Given the description of an element on the screen output the (x, y) to click on. 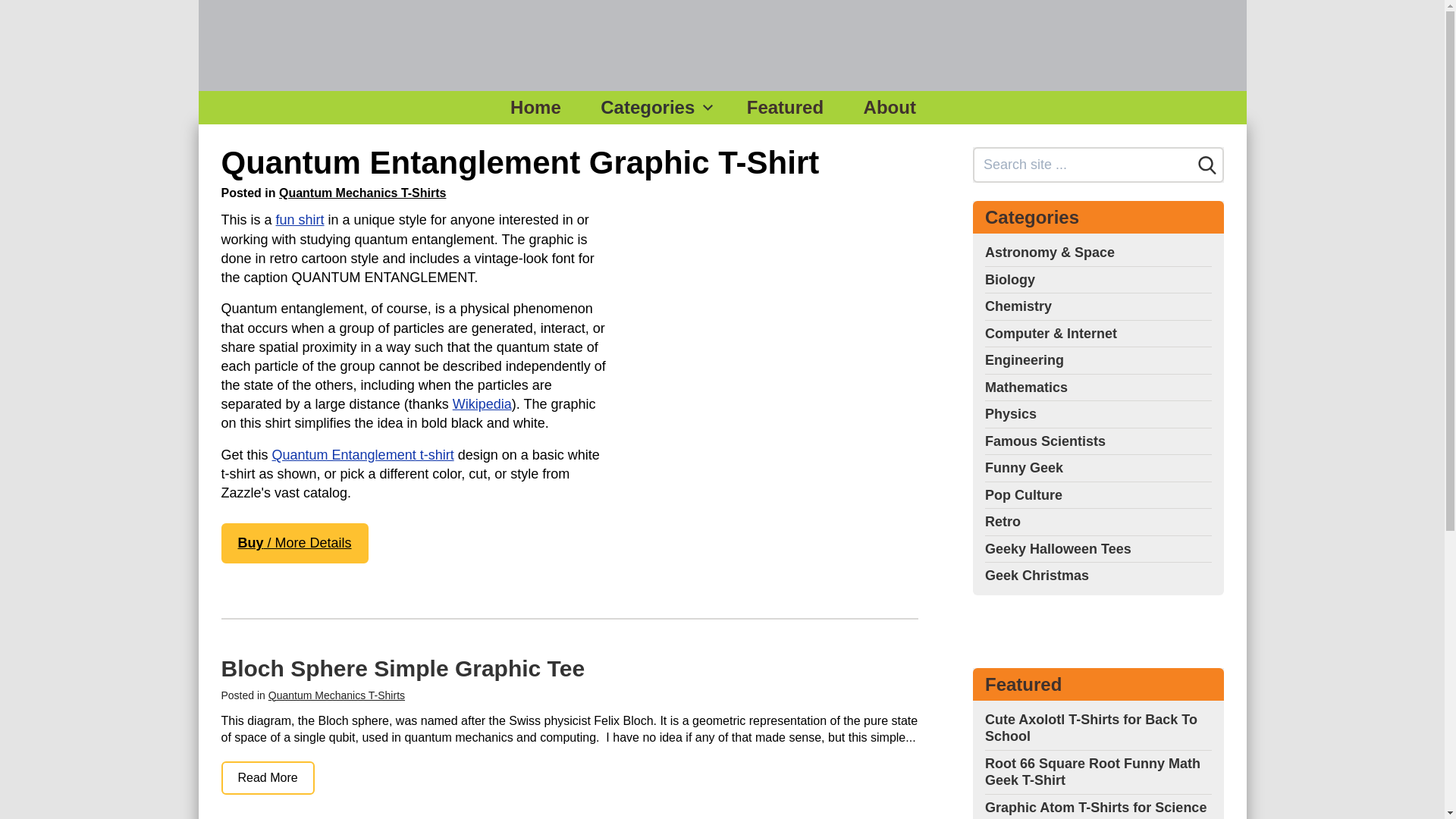
About (889, 107)
Bloch Sphere Simple Graphic Tee (267, 777)
Wikipedia (482, 403)
fun shirt (300, 219)
Featured (785, 107)
Quantum Mechanics T-Shirts (362, 192)
Home (535, 107)
